Given the description of an element on the screen output the (x, y) to click on. 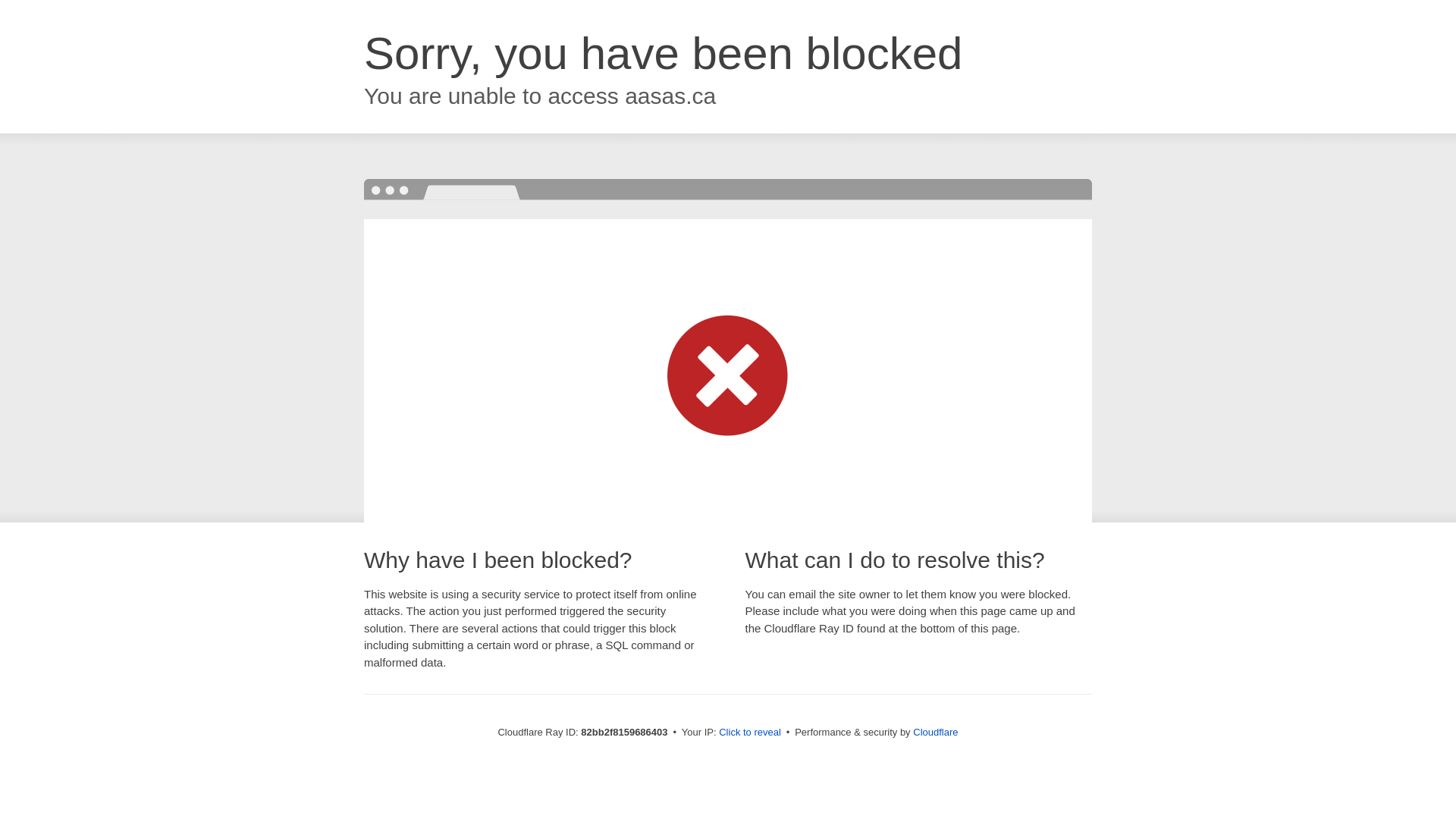
Click to reveal Element type: text (749, 732)
Cloudflare Element type: text (935, 731)
